Given the description of an element on the screen output the (x, y) to click on. 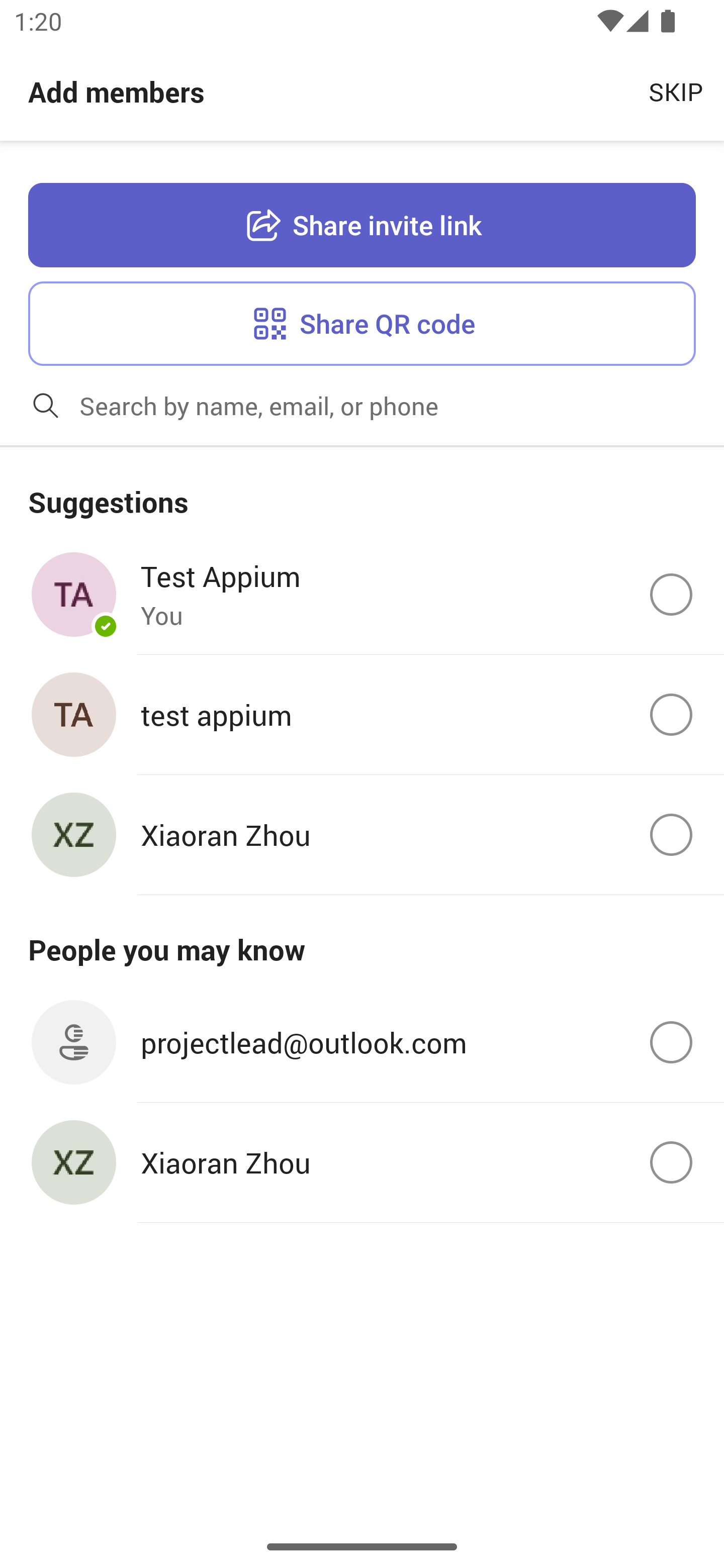
SKIP (675, 90)
Share invite link (361, 225)
Share QR code (361, 322)
Search by name, email, or phone (393, 405)
Suggestions section header Suggestions (362, 490)
